Given the description of an element on the screen output the (x, y) to click on. 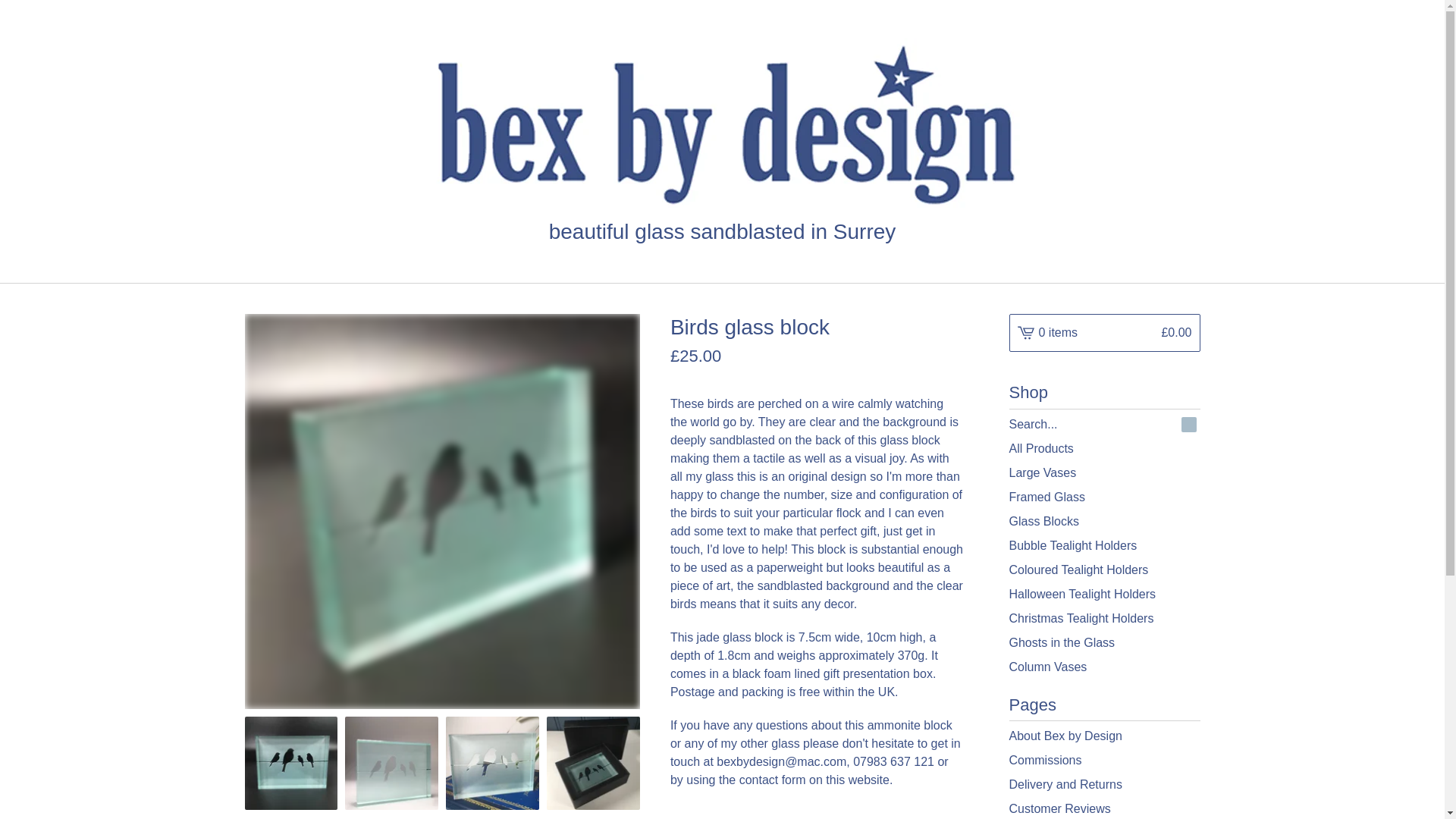
Commissions (1104, 760)
Bubble Tealight Holders (1104, 545)
View About Bex by Design (1104, 735)
View Ghosts in the Glass (1104, 642)
Bex by Design (722, 127)
All Products (1104, 448)
View Christmas Tealight Holders (1104, 618)
View Delivery and Returns (1104, 784)
View Coloured Tealight Holders (1104, 569)
Coloured Tealight Holders (1104, 569)
View Large Vases (1104, 473)
View Column Vases (1104, 667)
Halloween Tealight Holders (1104, 594)
Customer Reviews (1104, 807)
View Framed Glass (1104, 497)
